Given the description of an element on the screen output the (x, y) to click on. 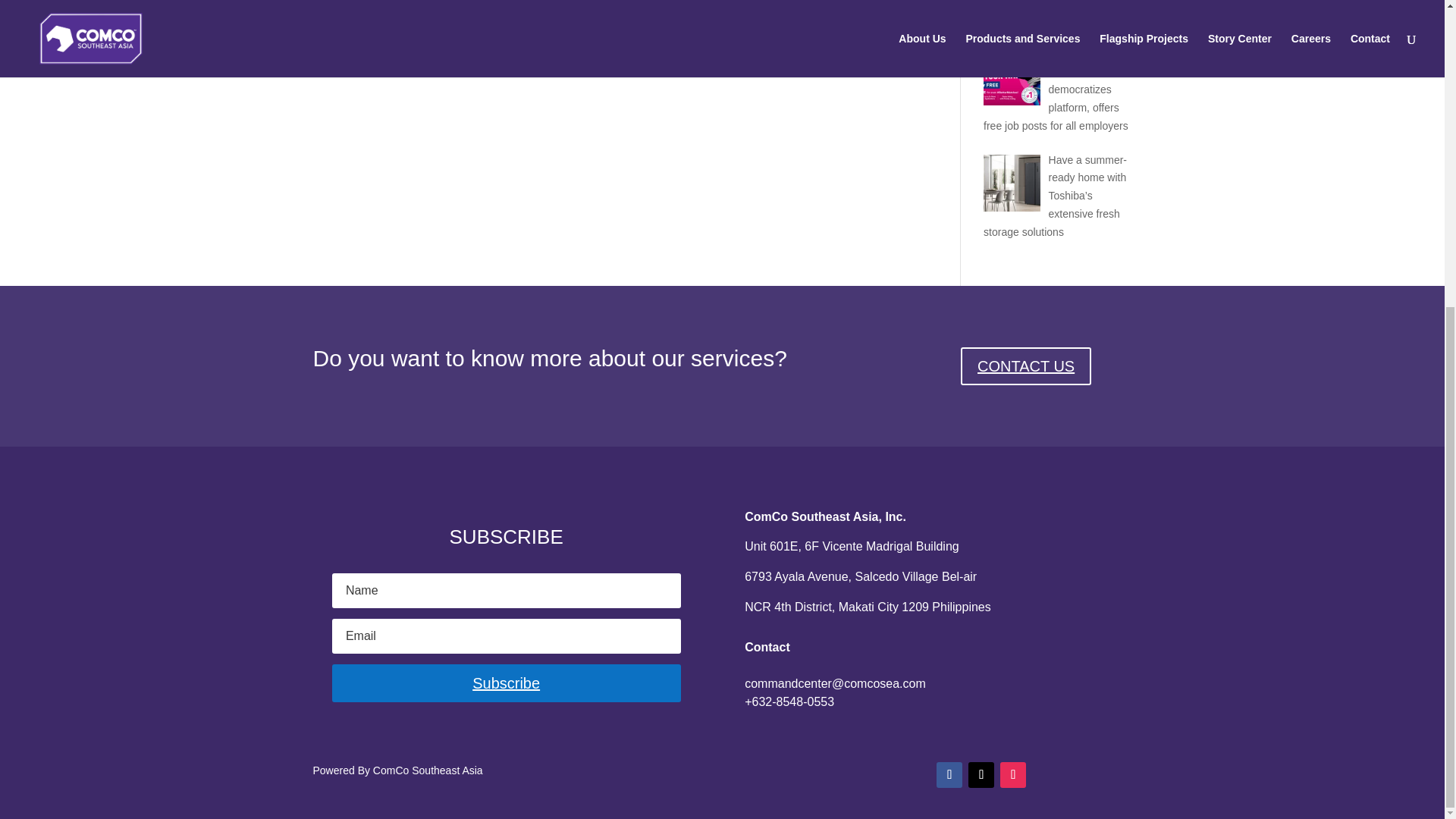
Subscribe (506, 682)
Follow on Facebook (949, 774)
Follow on Instagram (1013, 774)
Follow on X (981, 774)
CONTACT US (1025, 365)
